Given the description of an element on the screen output the (x, y) to click on. 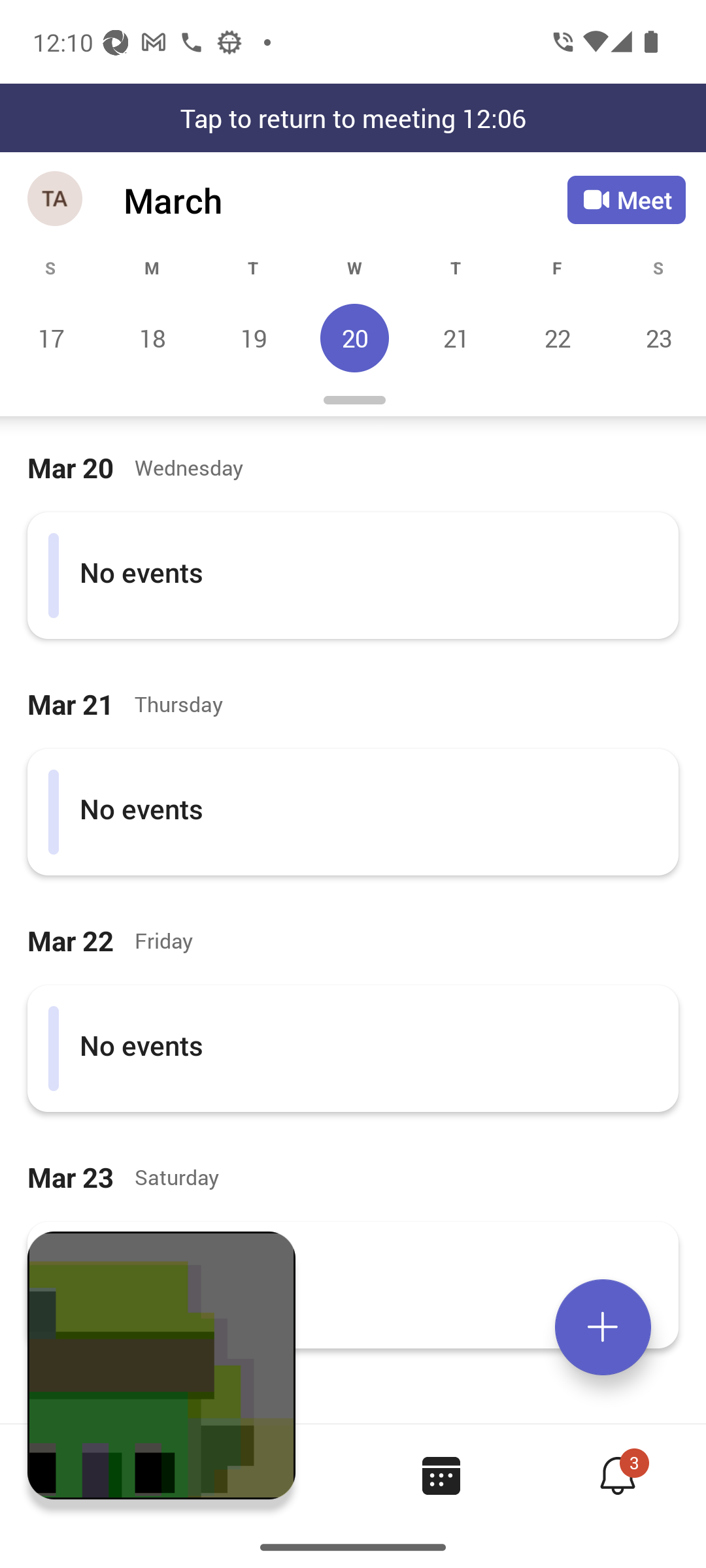
Tap to return to meeting 12:06 (353, 117)
Navigation (56, 199)
Meet Meet now or join with an ID (626, 199)
March March Calendar Agenda View (345, 199)
Sunday, March 17 17 (50, 337)
Monday, March 18 18 (151, 337)
Tuesday, March 19 19 (253, 337)
Wednesday, March 20, Selected 20 (354, 337)
Thursday, March 21 21 (455, 337)
Friday, March 22 22 (556, 337)
Saturday, March 23 23 (656, 337)
Expand meetings menu (602, 1327)
Calendar tab, 3 of 4 (441, 1475)
Activity tab,4 of 4, not selected, 3 new 3 (617, 1475)
